Given the description of an element on the screen output the (x, y) to click on. 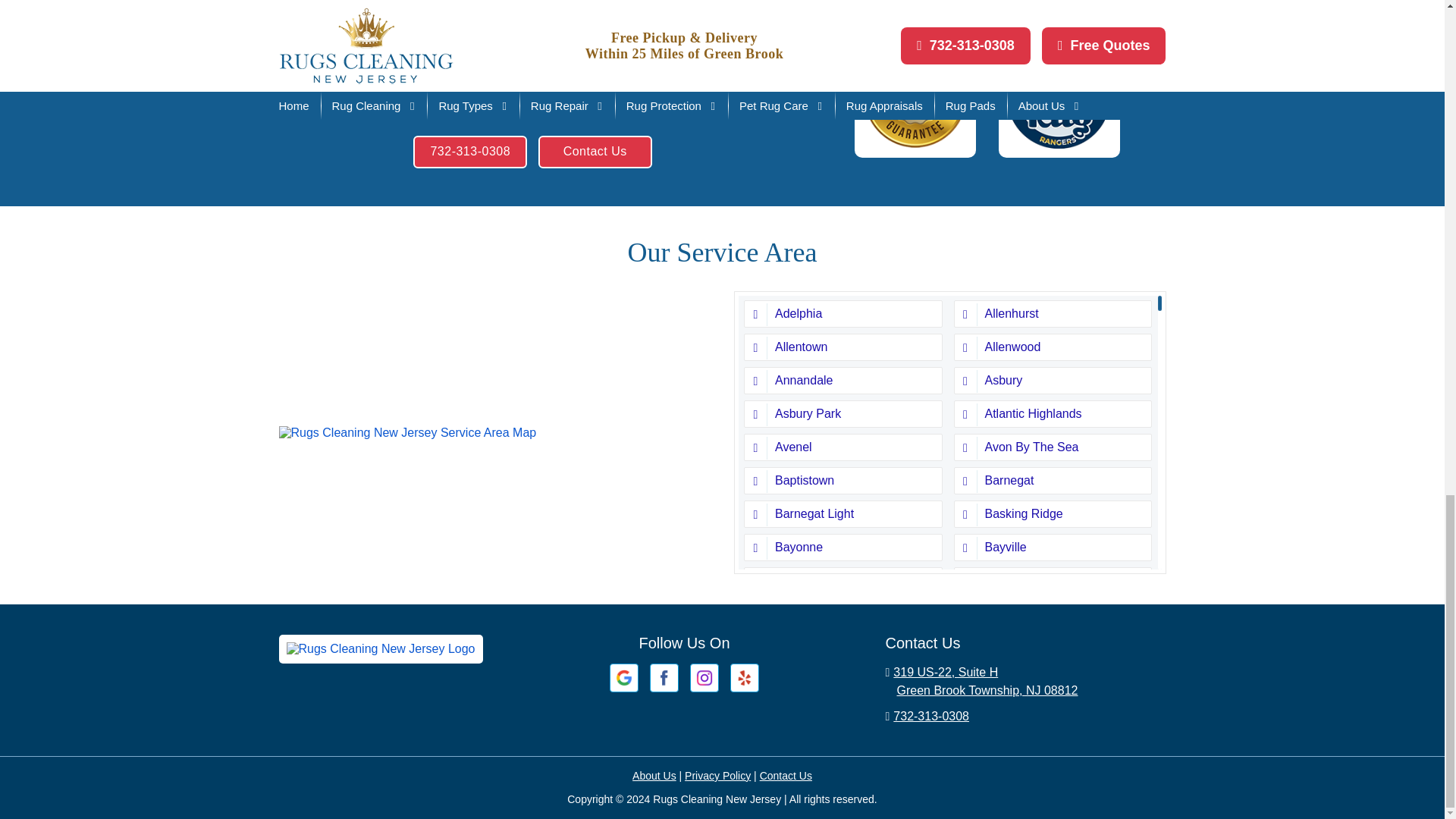
View Facebook (663, 676)
View Instagram (704, 676)
View Google (624, 676)
View Yelp (744, 676)
